Given the description of an element on the screen output the (x, y) to click on. 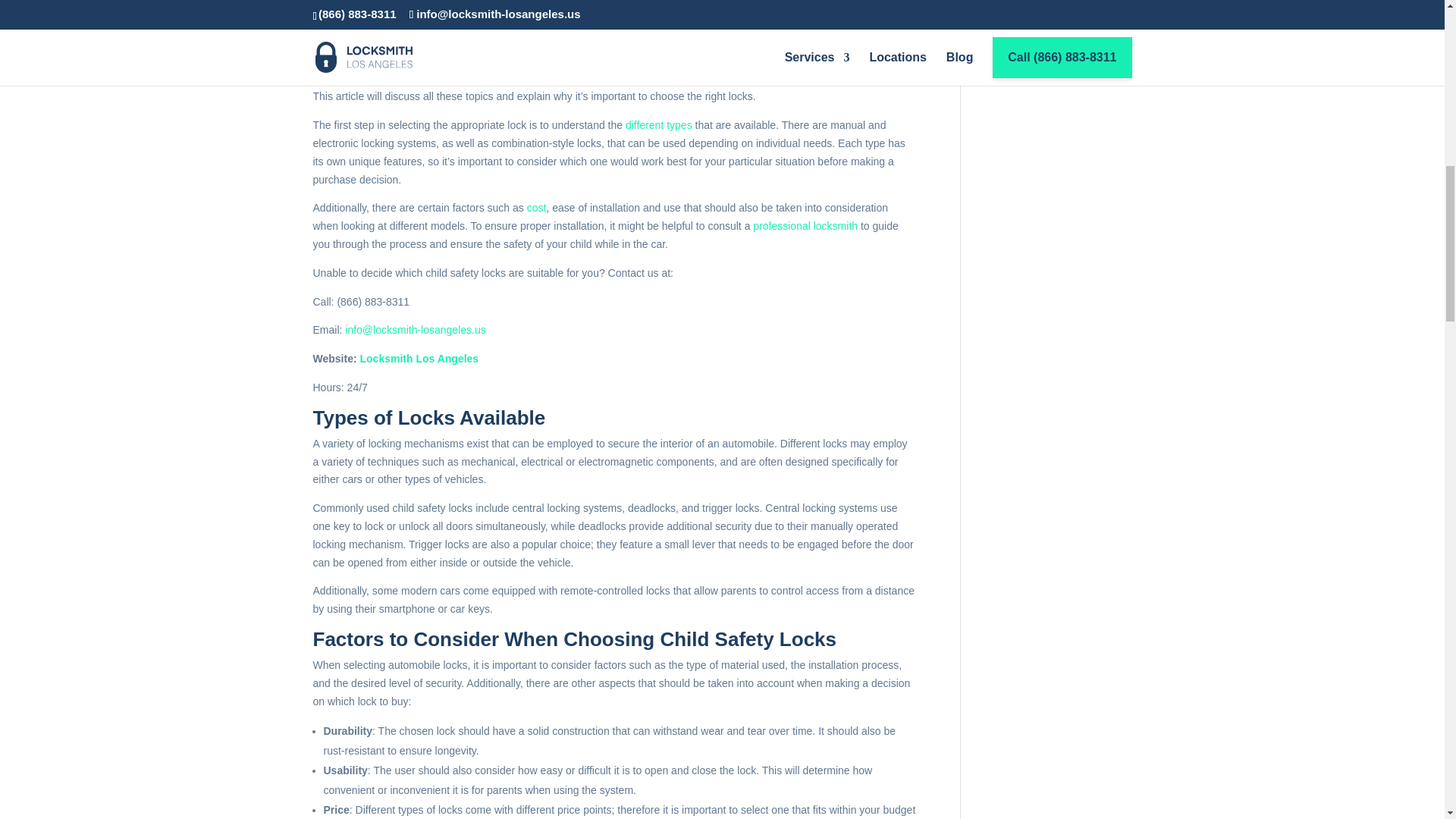
Locksmith Los Angeles (419, 358)
Conclusion (351, 1)
Conclusion (351, 1)
different types (659, 124)
cost (537, 207)
professional locksmith (804, 225)
